Given the description of an element on the screen output the (x, y) to click on. 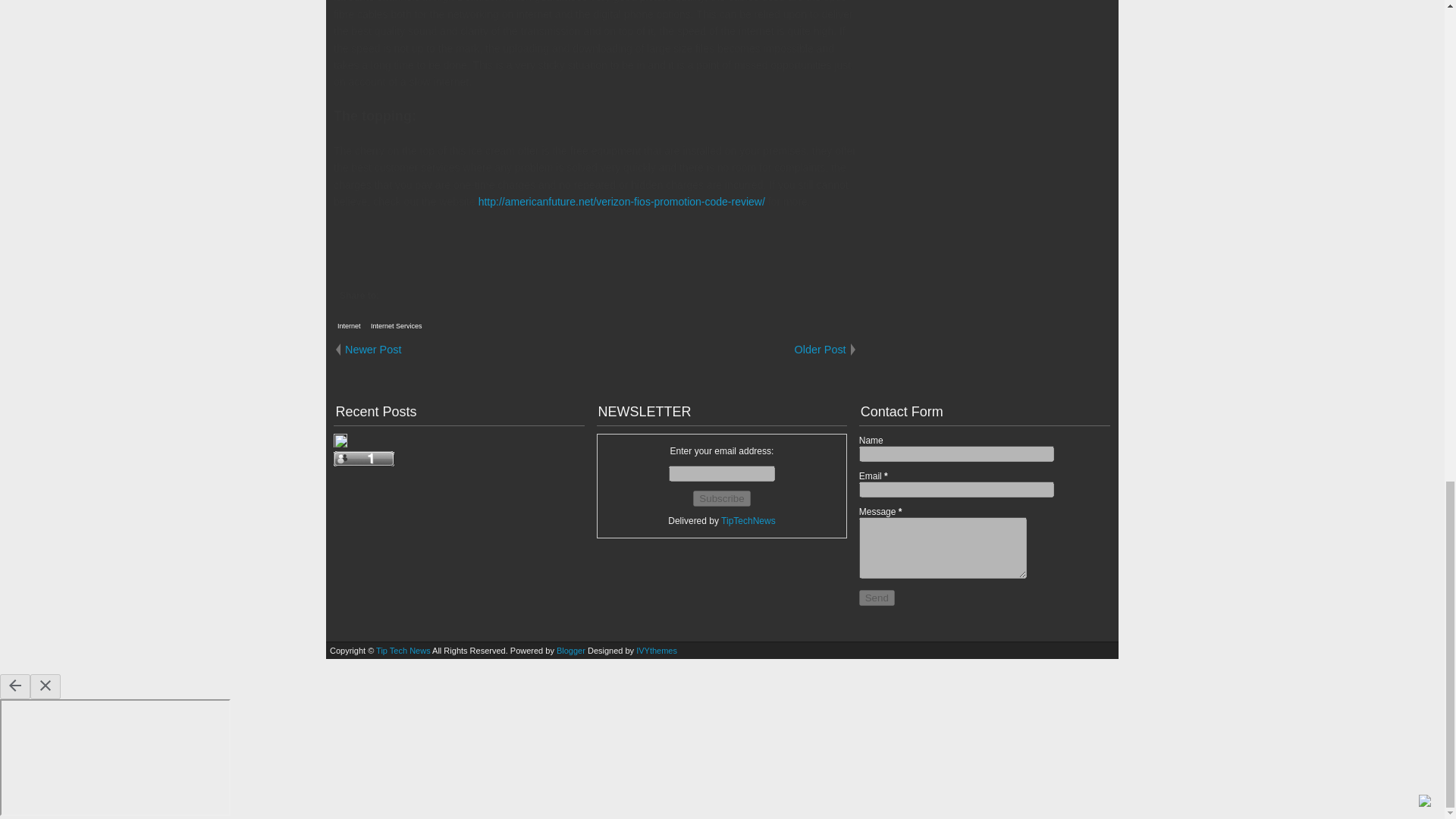
Internet Services (396, 326)
Subscribe (721, 498)
Newer Post (464, 349)
Newer Post (464, 349)
Send (877, 597)
Internet (349, 326)
Older Post (726, 349)
